Given the description of an element on the screen output the (x, y) to click on. 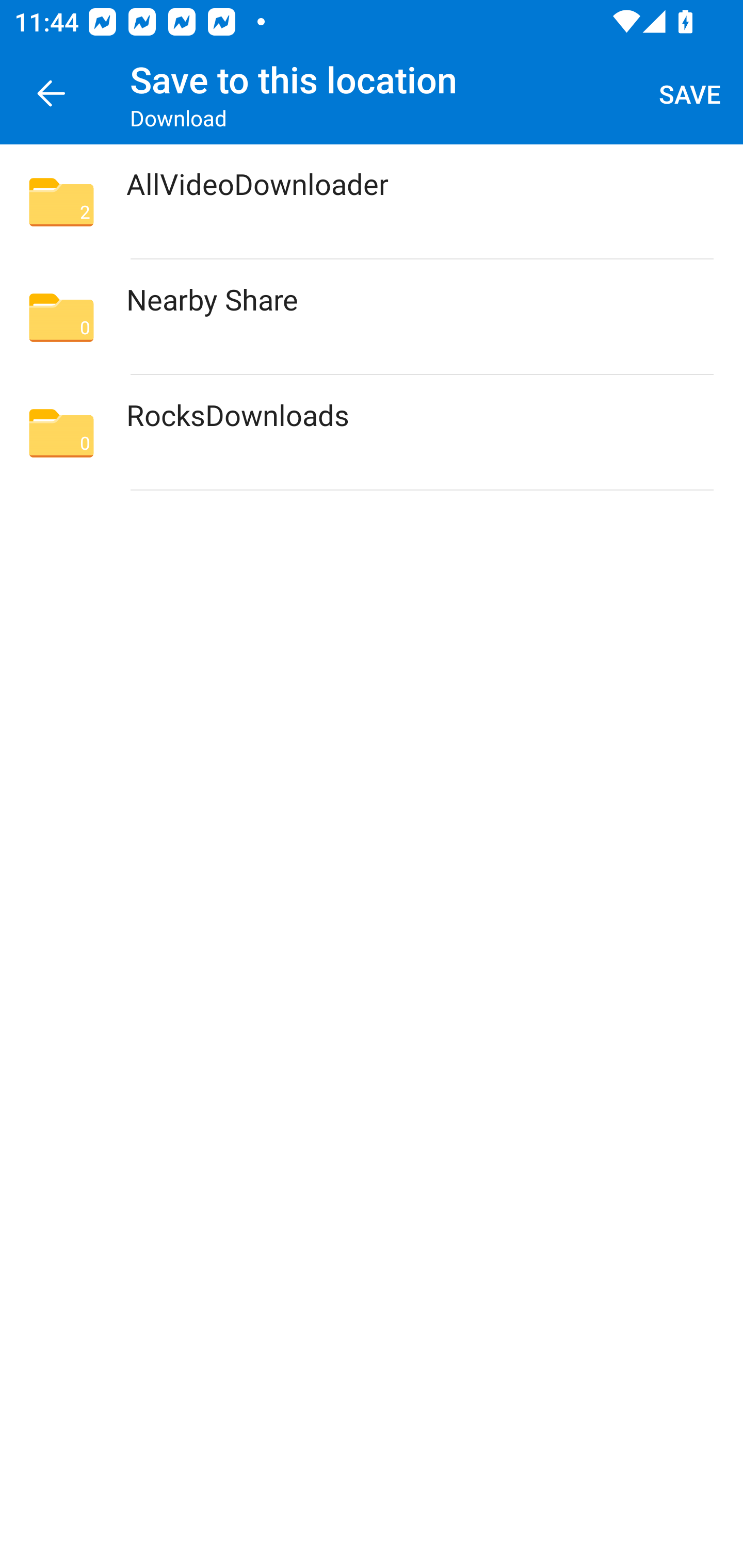
Navigate up (50, 93)
SAVE (690, 93)
Folder 2 2 items AllVideoDownloader (371, 202)
Folder 0 0 items Nearby Share (371, 317)
Folder 0 0 items RocksDownloads (371, 432)
